Given the description of an element on the screen output the (x, y) to click on. 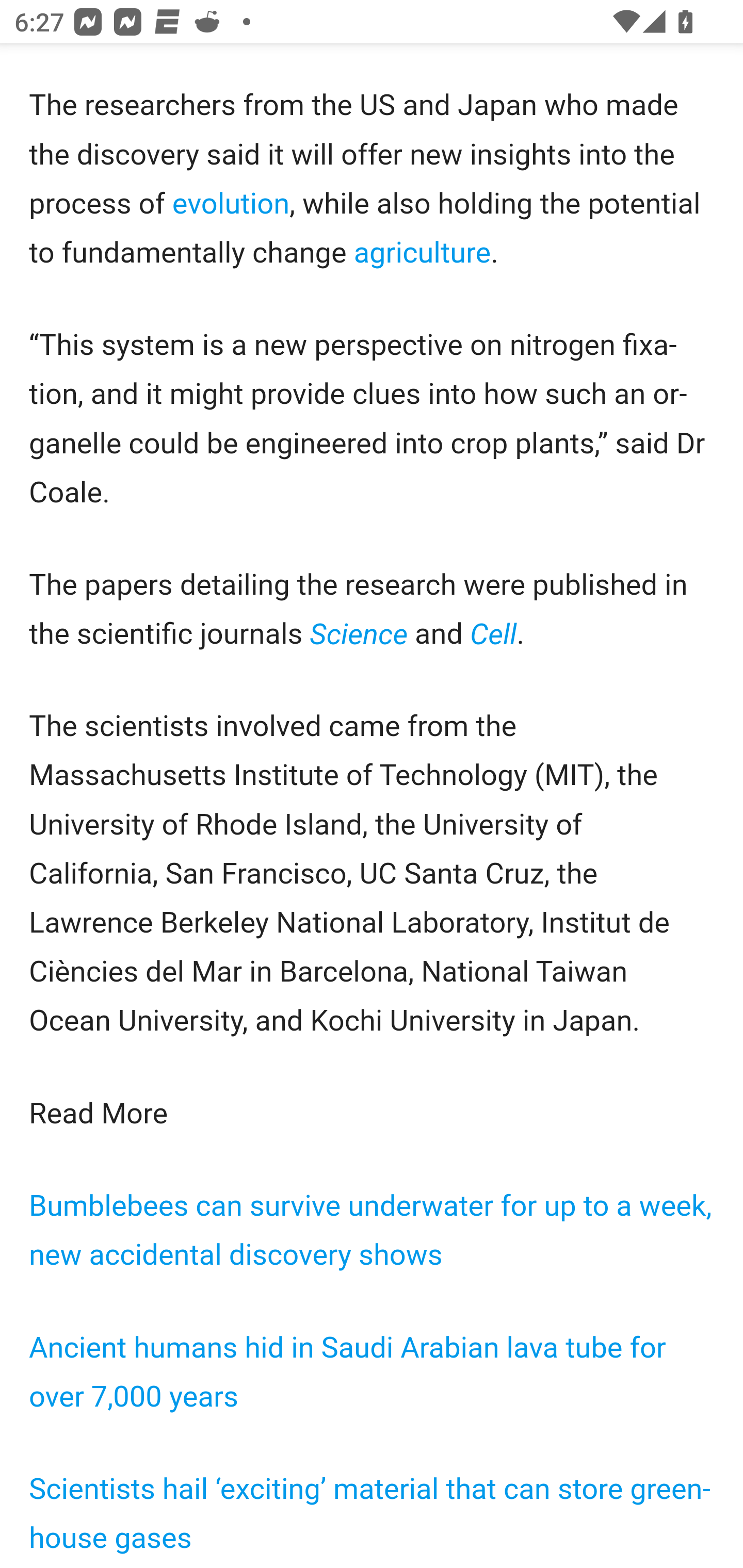
evolution (230, 203)
agriculture (421, 251)
Science  (362, 632)
Cell (493, 632)
